Given the description of an element on the screen output the (x, y) to click on. 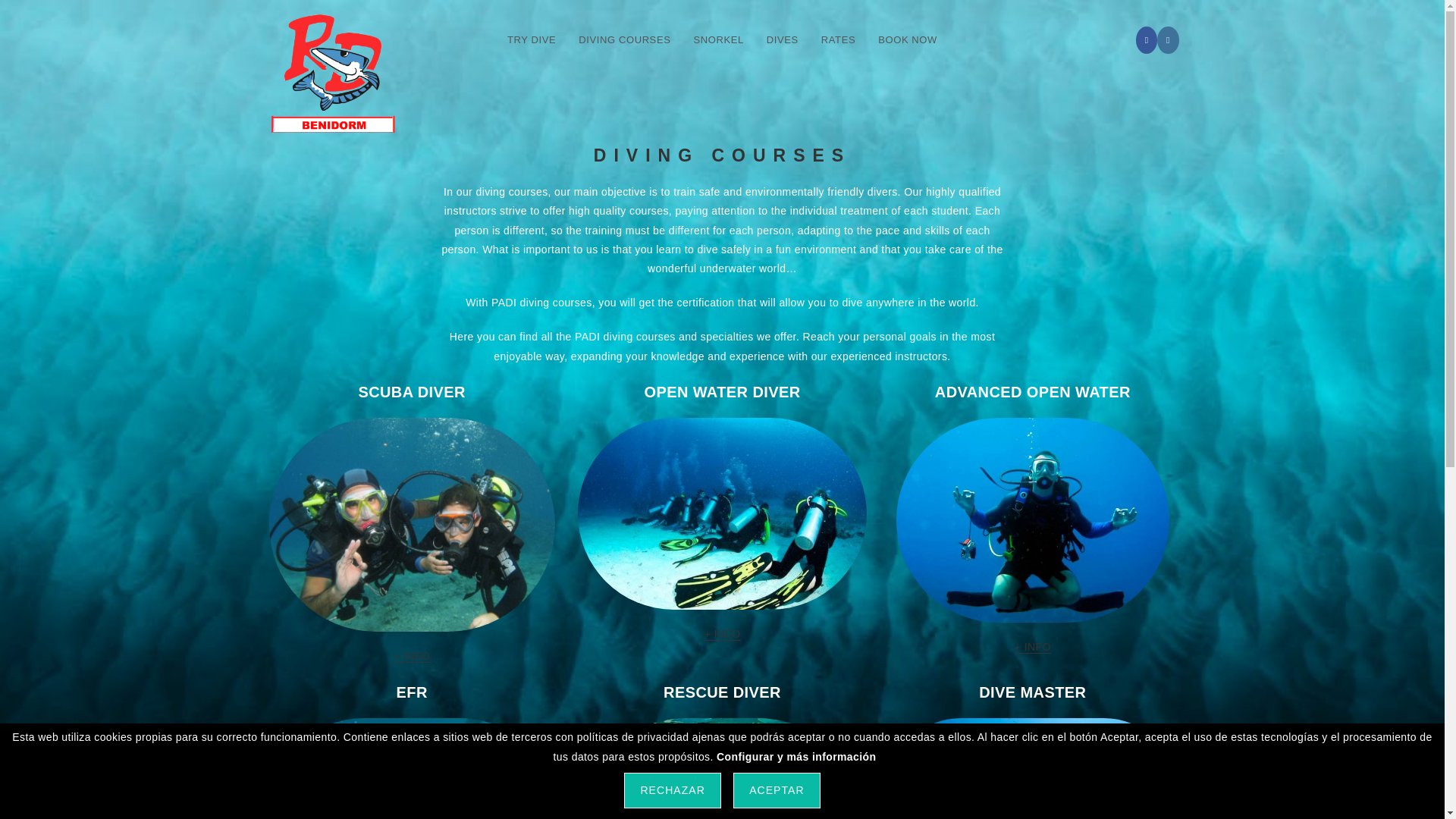
DIVES (782, 39)
TRY DIVE (531, 39)
RATES (837, 39)
DIVING COURSES (624, 39)
RECHAZAR (672, 790)
ACEPTAR (776, 790)
SNORKEL (717, 39)
BOOK NOW (907, 39)
